Given the description of an element on the screen output the (x, y) to click on. 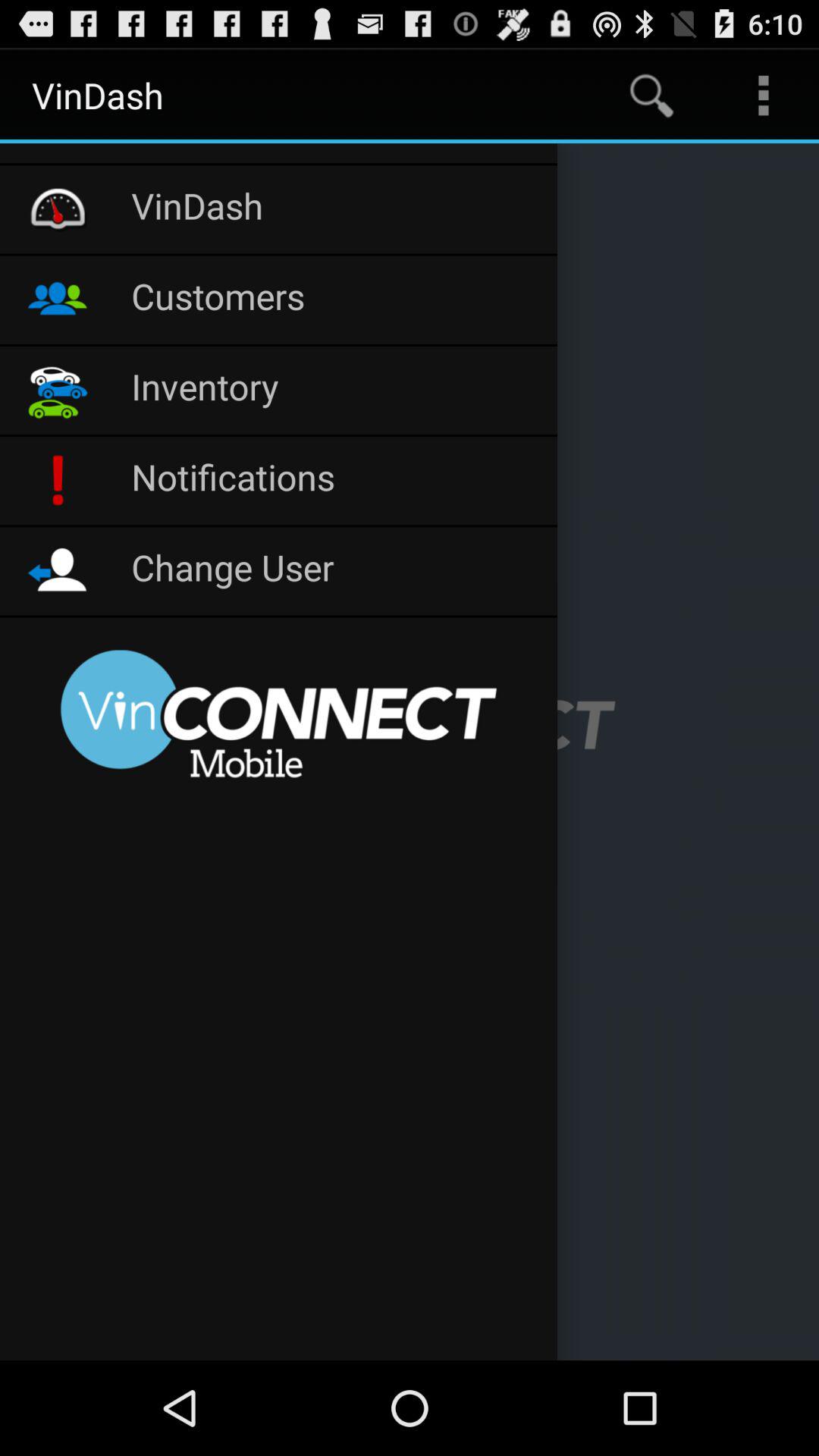
turn off the item below customers item (336, 389)
